Given the description of an element on the screen output the (x, y) to click on. 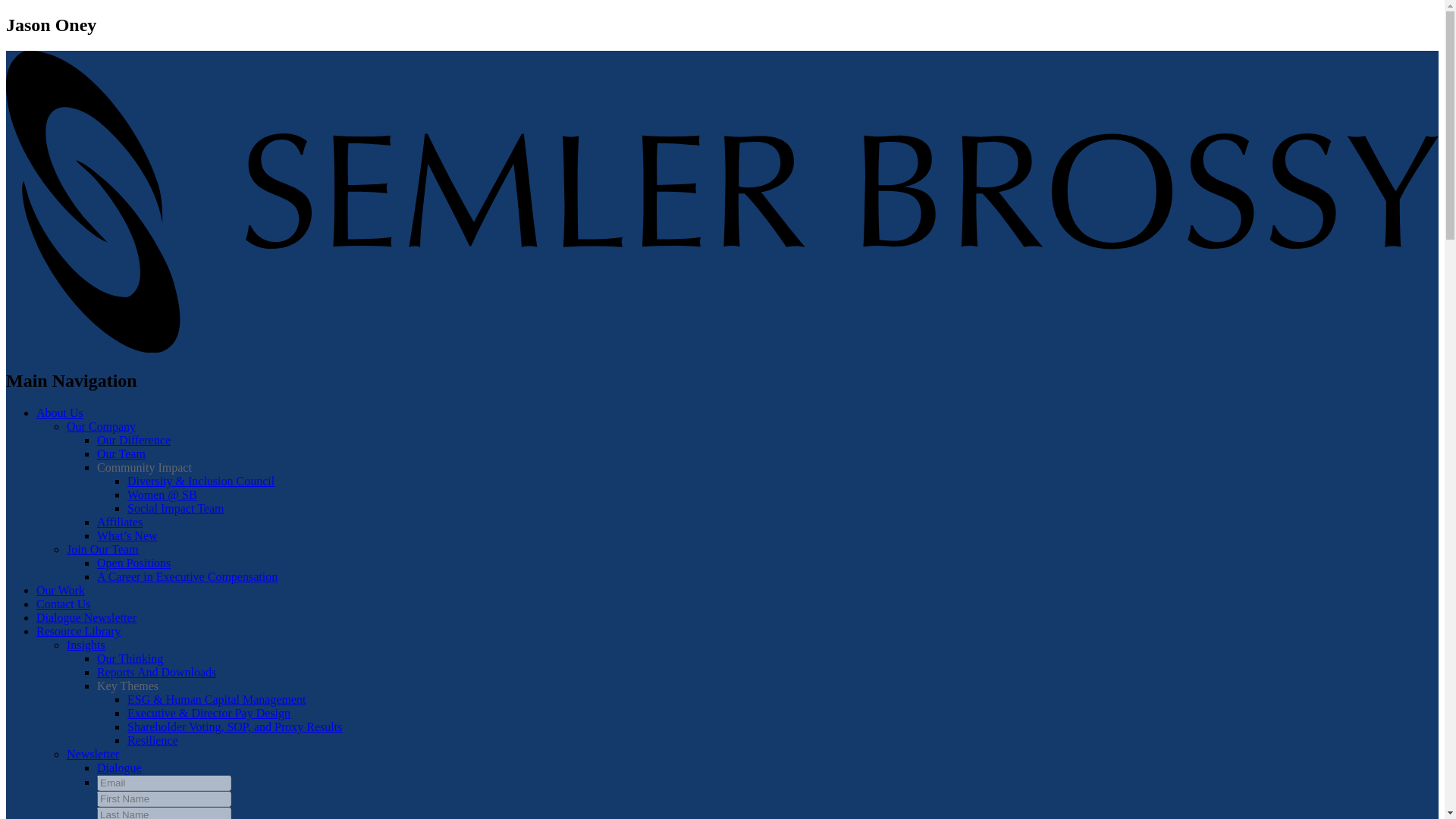
Social Impact Team (176, 508)
insights (156, 671)
Our Work (60, 590)
Key Themes (127, 685)
Our Thinking (130, 658)
our-difference (133, 440)
A Career in Executive Compensation (187, 576)
whats-new (127, 535)
About Us (59, 412)
Open Positions (133, 562)
Shareholder Voting, SOP, and Proxy Results (235, 726)
Dialogue (119, 767)
Reports And Downloads (156, 671)
Our Company (100, 426)
insights (130, 658)
